Given the description of an element on the screen output the (x, y) to click on. 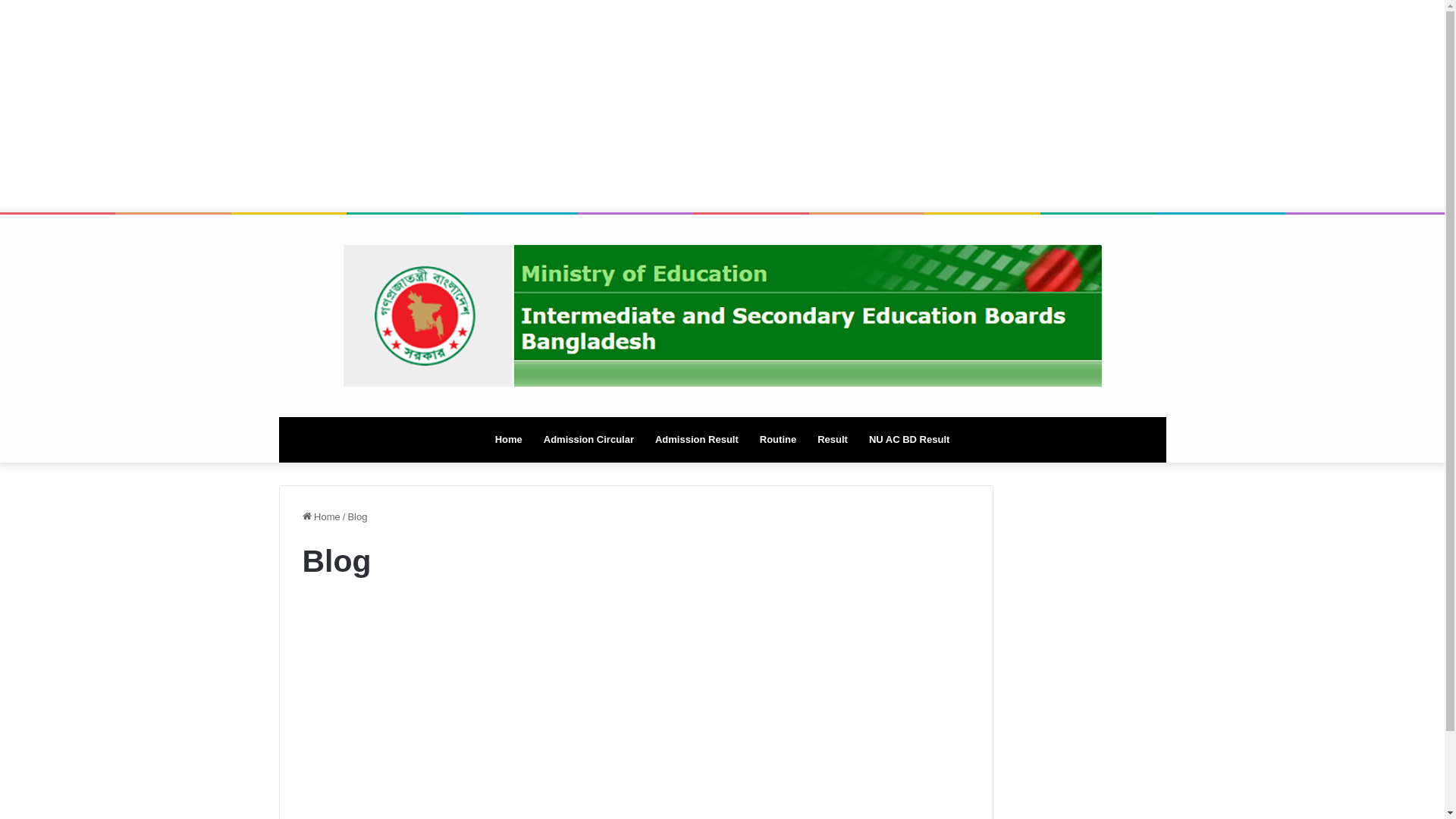
Routine Element type: text (777, 439)
Admission Circular Element type: text (588, 439)
Advertisement Element type: hover (721, 106)
Admission Result Element type: text (696, 439)
Result Element type: text (832, 439)
educationboardresults Element type: hover (721, 315)
Home Element type: text (508, 439)
NU AC BD Result Element type: text (909, 439)
Home Element type: text (320, 516)
